Given the description of an element on the screen output the (x, y) to click on. 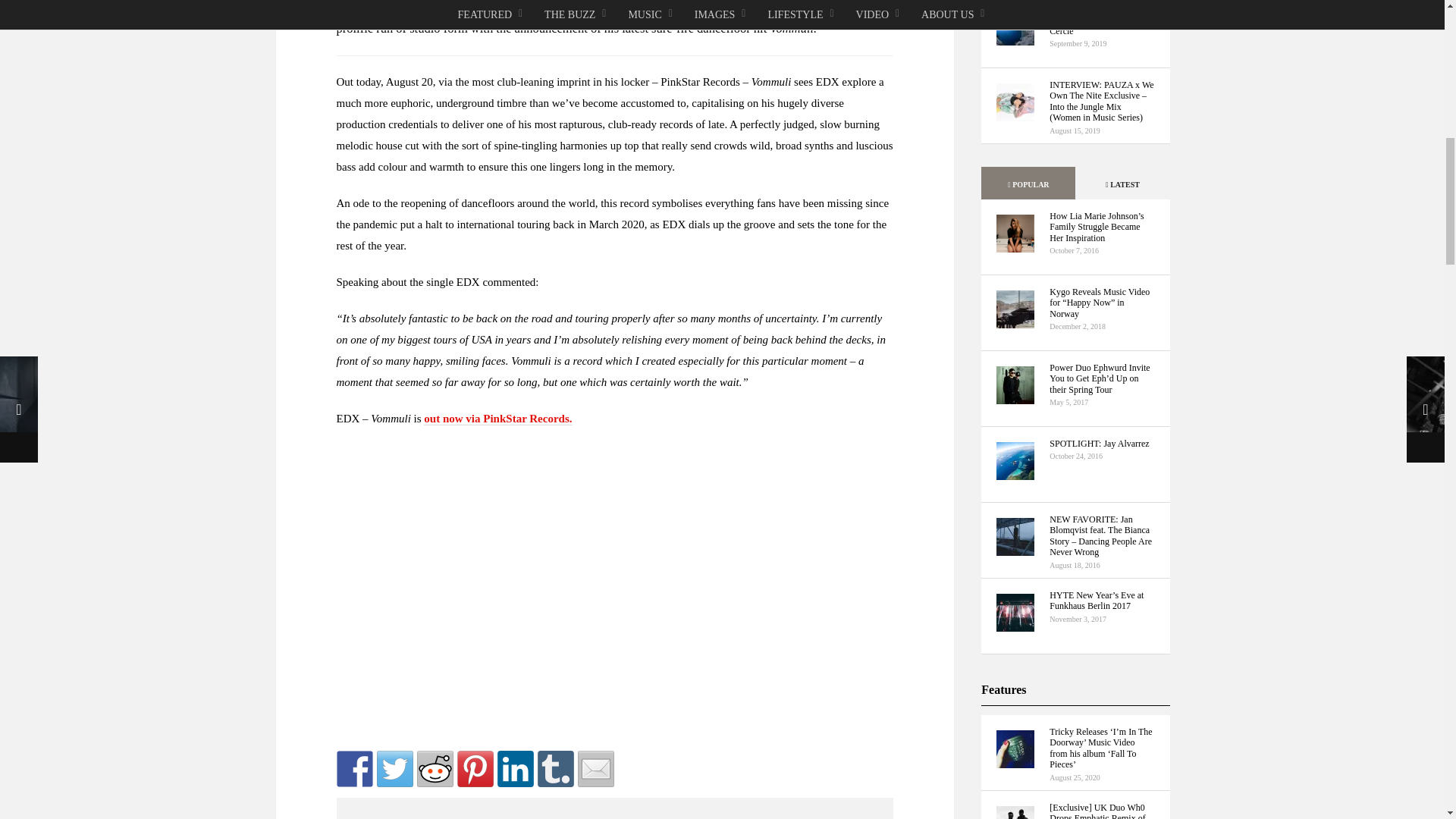
Share on Reddit (434, 769)
Pin it with Pinterest (475, 769)
Shared on Facebook via We Own The Nite NYC (354, 769)
